Given the description of an element on the screen output the (x, y) to click on. 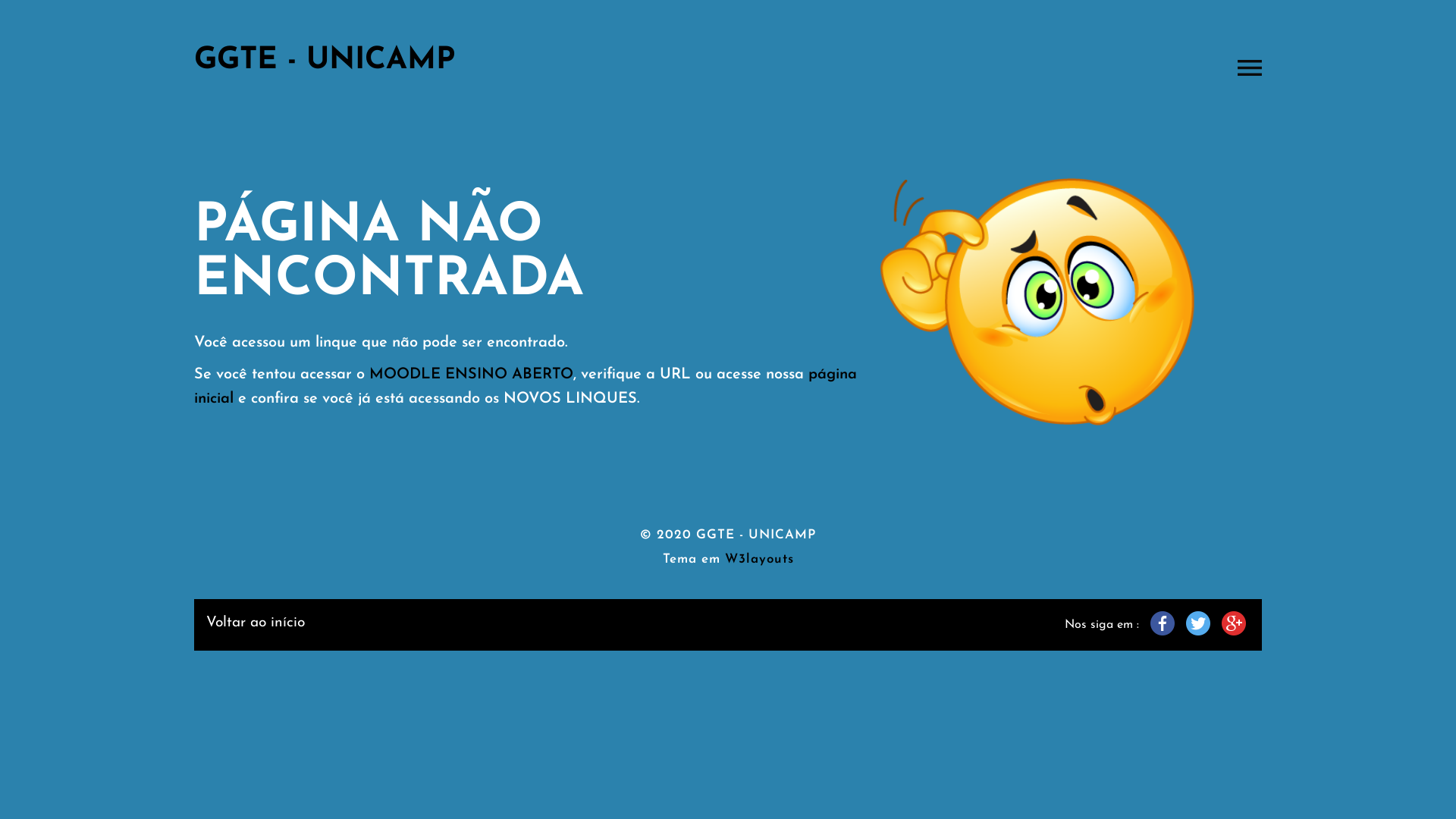
facebook Element type: hover (1162, 623)
W3layouts Element type: text (758, 558)
youtube Element type: hover (1233, 623)
twitter Element type: hover (1198, 623)
